Given the description of an element on the screen output the (x, y) to click on. 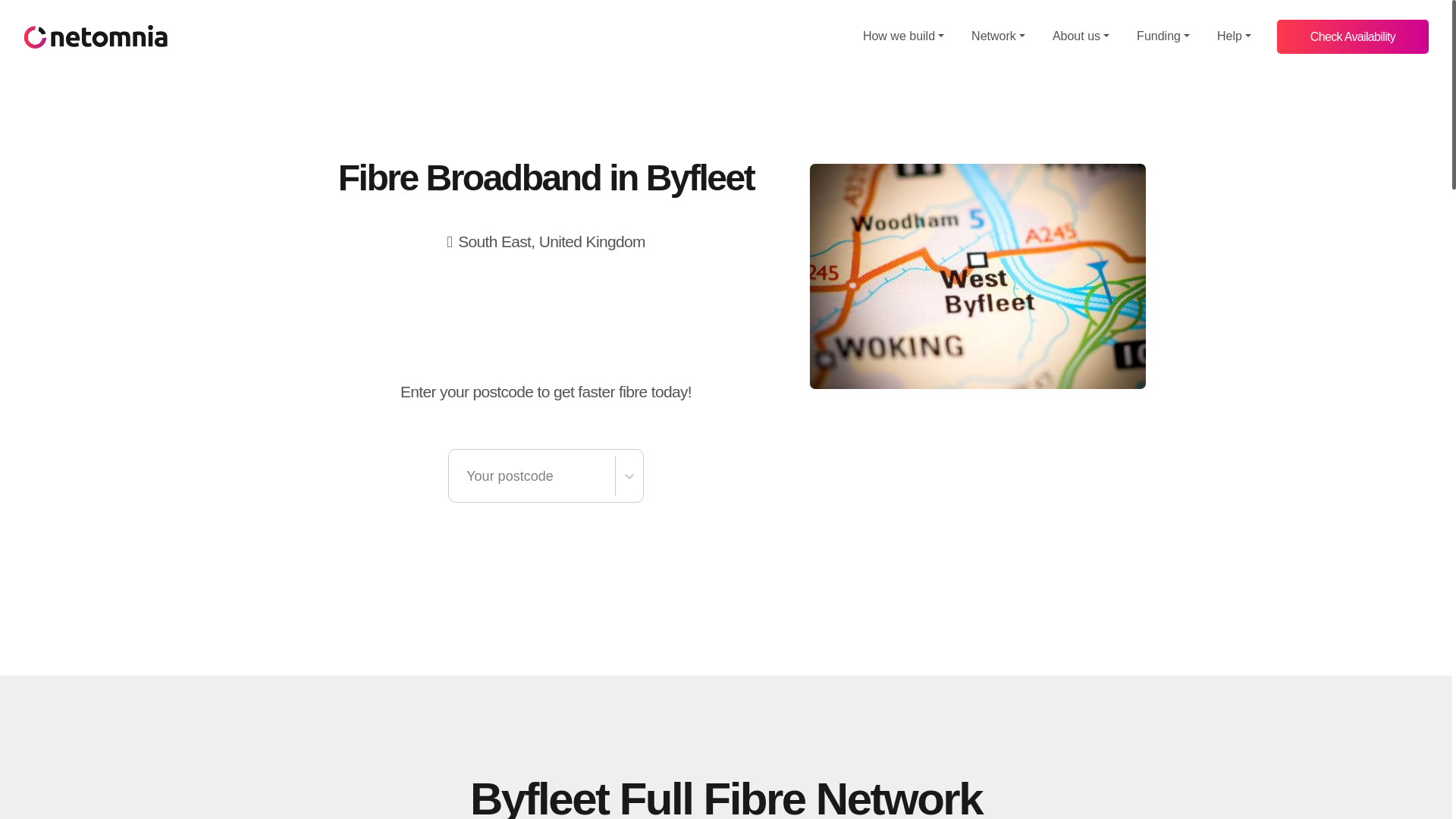
Help (1234, 35)
Check Availability (1352, 36)
Funding (1163, 35)
Network (998, 35)
How we build (903, 35)
About us (1080, 35)
